Given the description of an element on the screen output the (x, y) to click on. 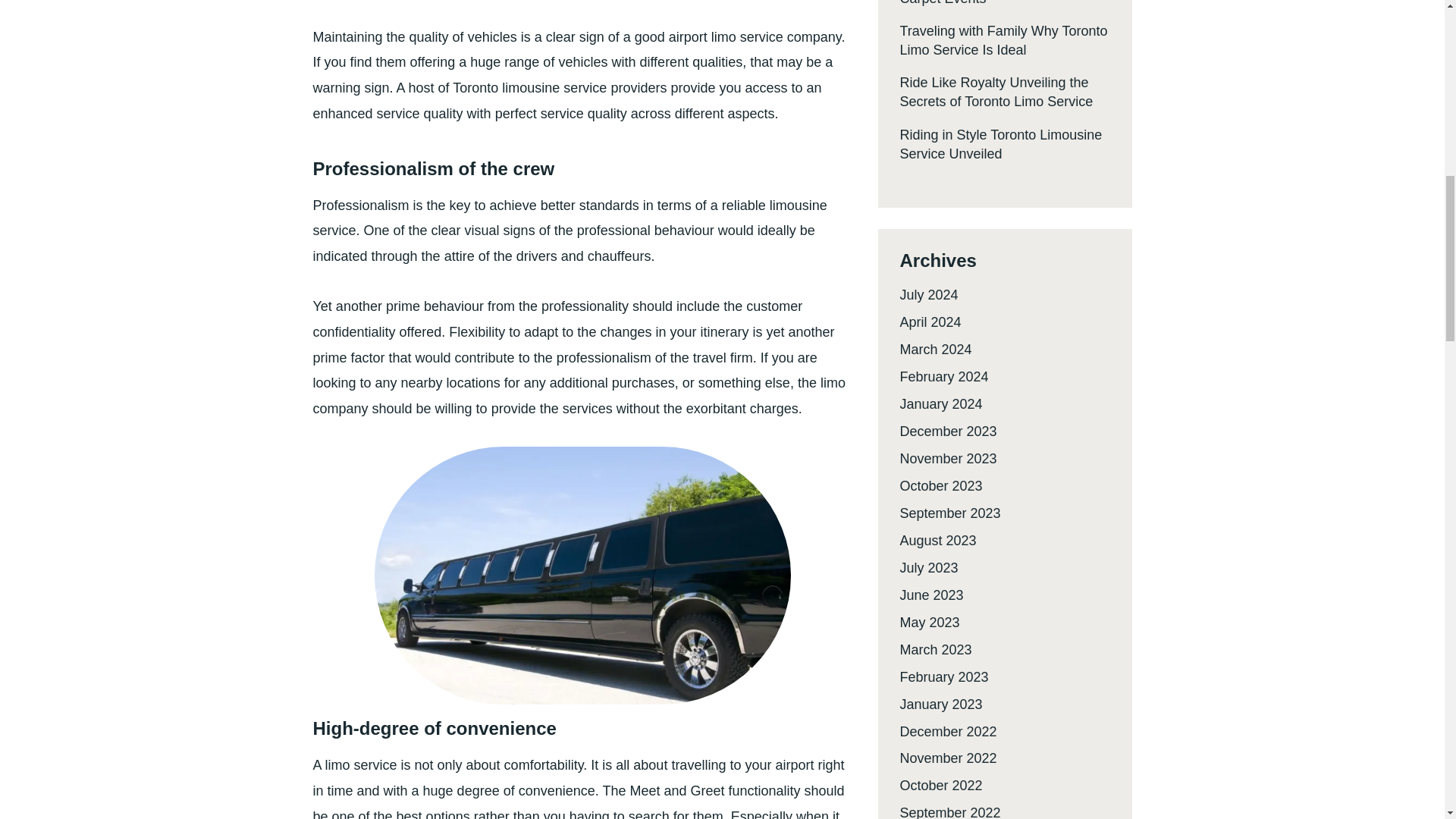
Traveling with Family Why Toronto Limo Service Is Ideal (1002, 40)
July 2024 (928, 294)
Riding in Style Toronto Limousine Service Unveiled (1000, 144)
